Given the description of an element on the screen output the (x, y) to click on. 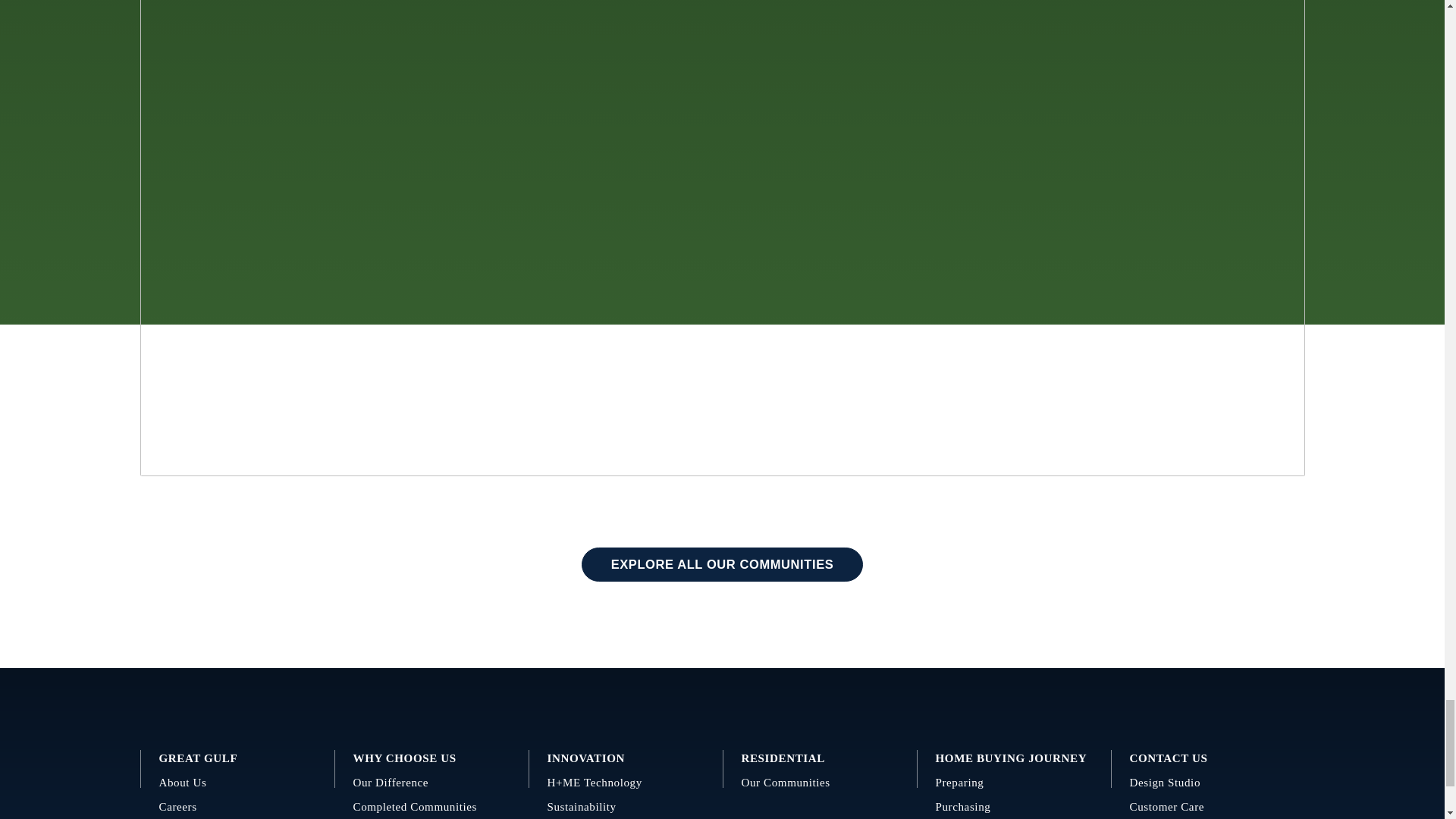
Careers (236, 806)
Our Difference (432, 782)
Design Studio (1208, 782)
Sustainability (625, 806)
EXPLORE ALL OUR COMMUNITIES (721, 564)
About Us (236, 782)
Customer Care (1208, 806)
Preparing (1014, 782)
Our Communities (819, 782)
Purchasing (1014, 806)
Completed Communities (432, 806)
